Given the description of an element on the screen output the (x, y) to click on. 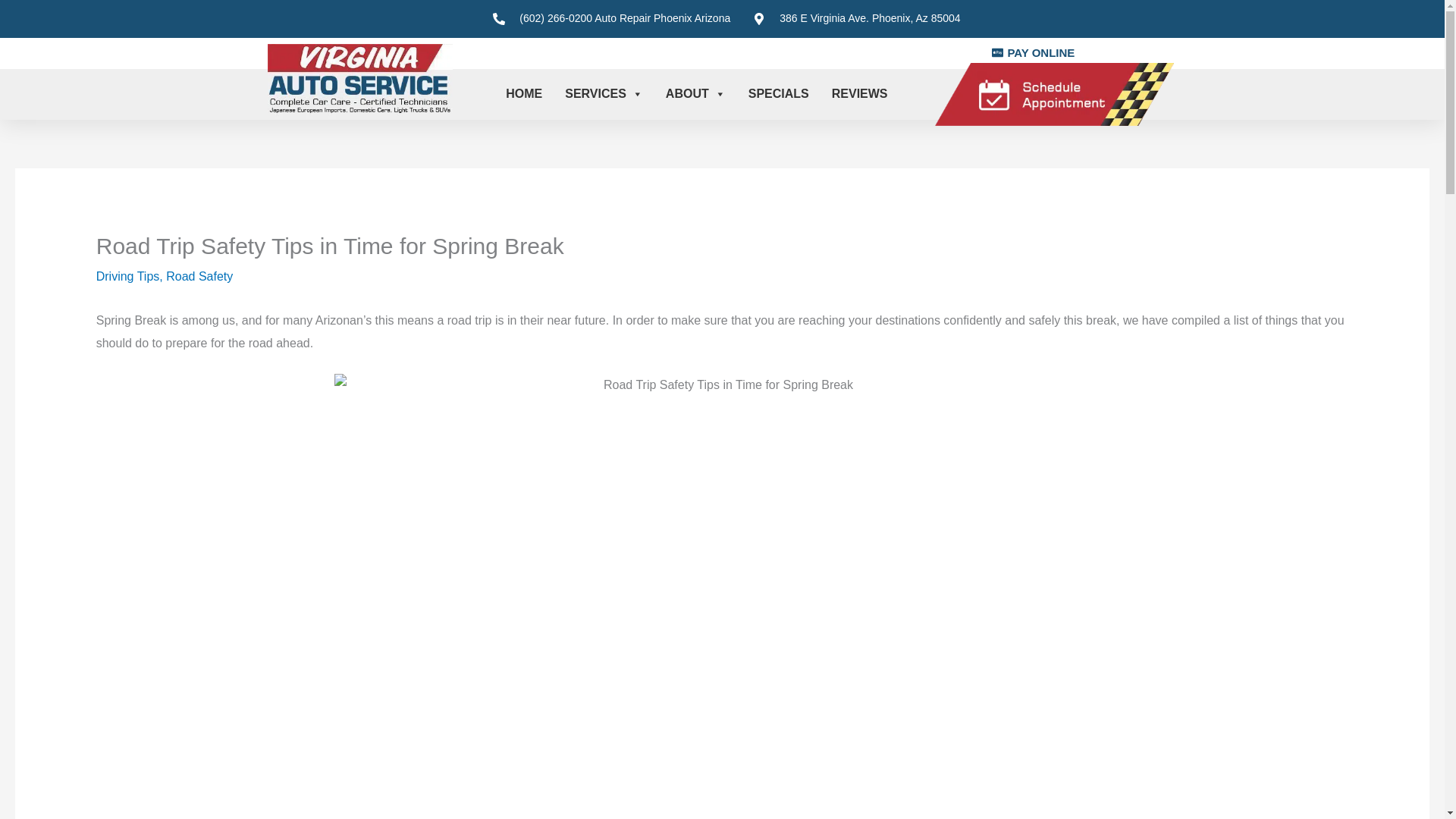
PAY ONLINE (1033, 52)
